Given the description of an element on the screen output the (x, y) to click on. 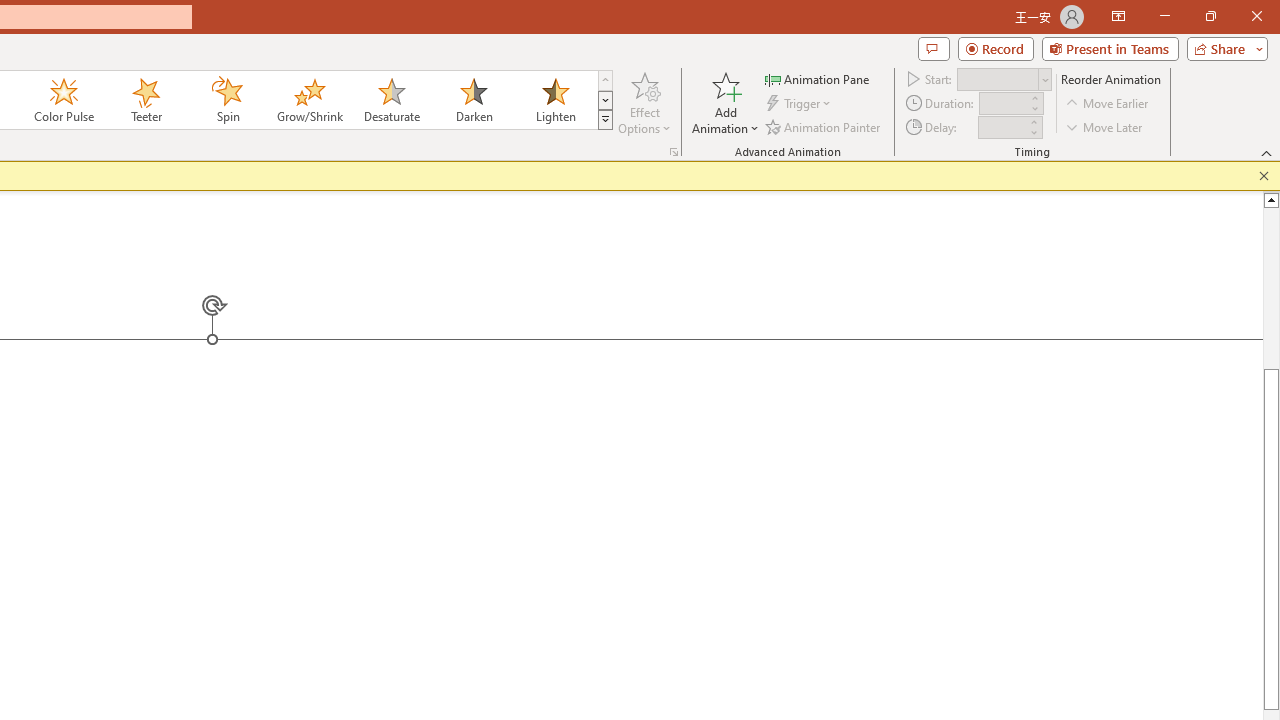
Color Pulse (63, 100)
Close this message (1263, 176)
Trigger (799, 103)
Grow/Shrink (309, 100)
Desaturate (391, 100)
Spin (227, 100)
Move Later (1105, 126)
